Given the description of an element on the screen output the (x, y) to click on. 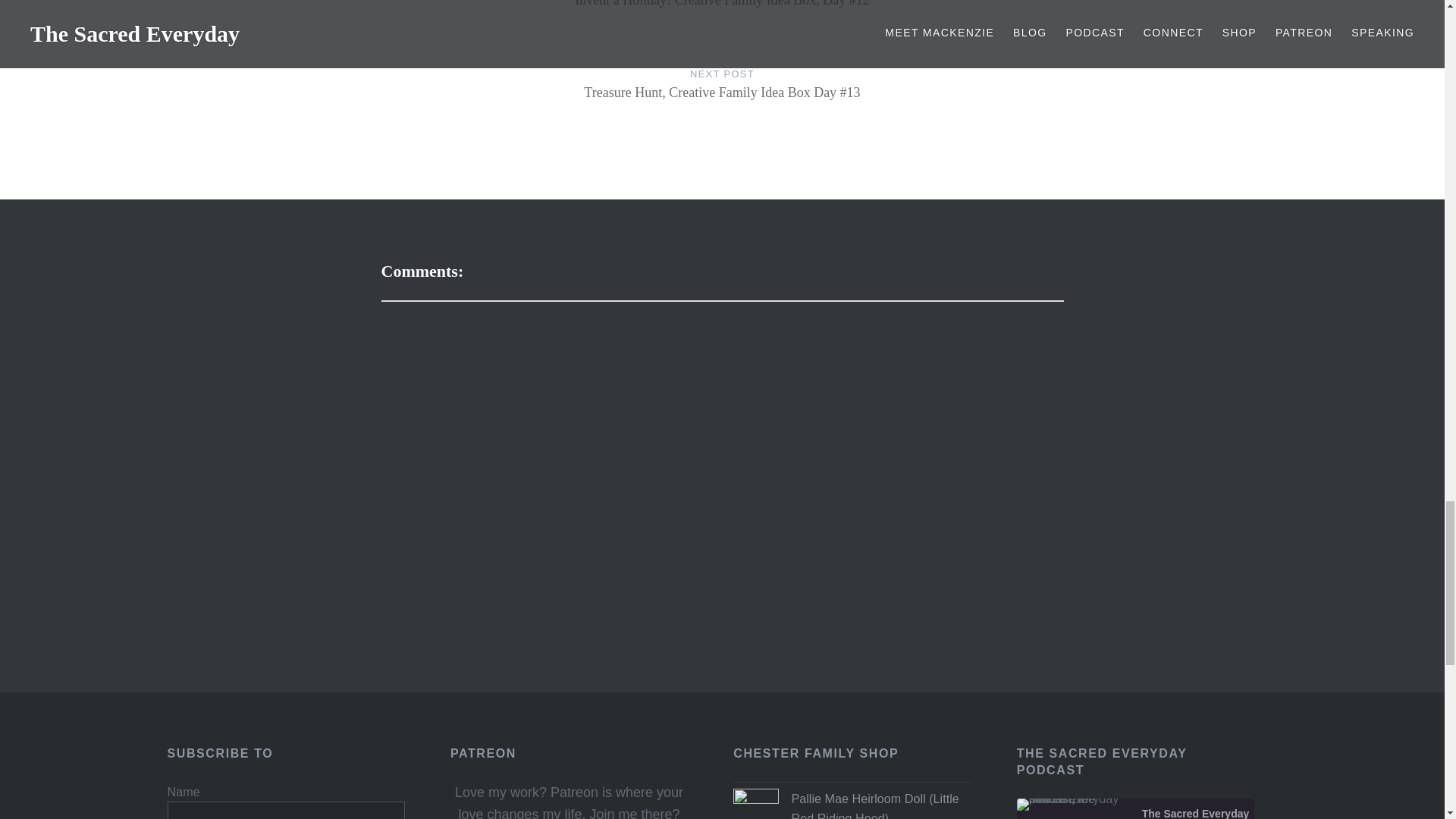
The Sacred Everyday (1073, 804)
